Given the description of an element on the screen output the (x, y) to click on. 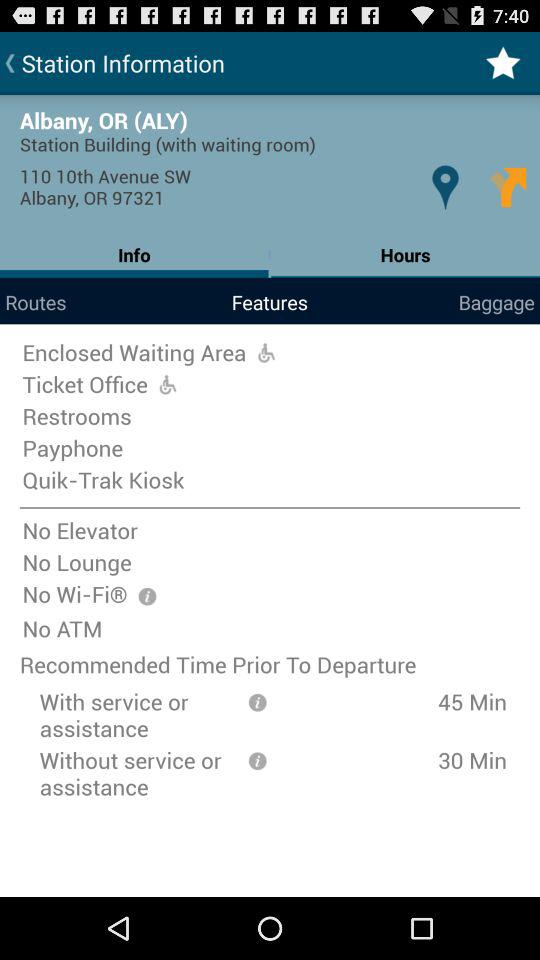
tap item to the right of the 110 10th avenue (444, 186)
